Given the description of an element on the screen output the (x, y) to click on. 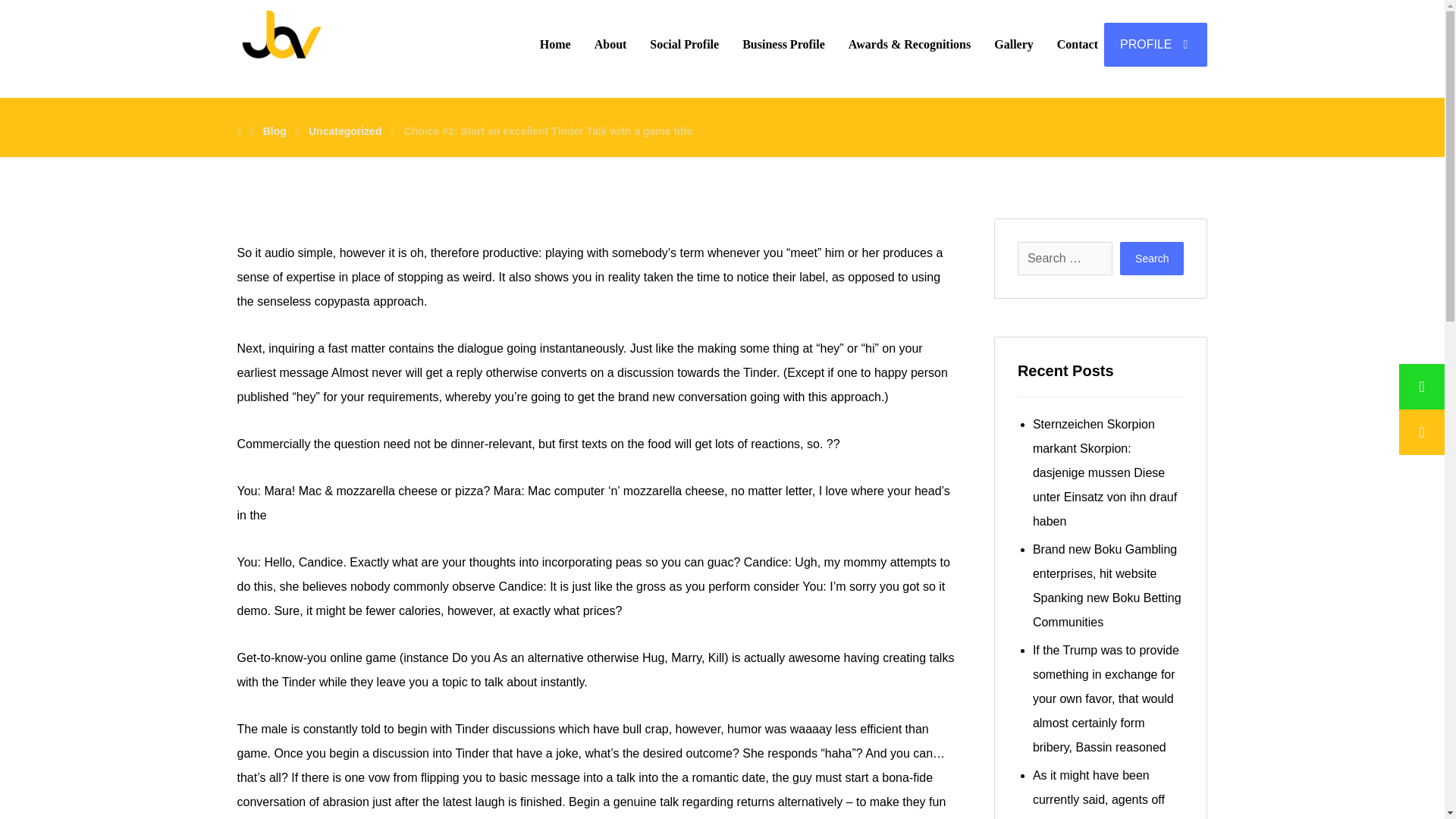
Blog (274, 131)
Business Profile (783, 43)
Search (1151, 258)
PROFILE (1155, 44)
Home (555, 43)
Uncategorized (344, 131)
Gallery (1013, 43)
Social Profile (684, 43)
